Given the description of an element on the screen output the (x, y) to click on. 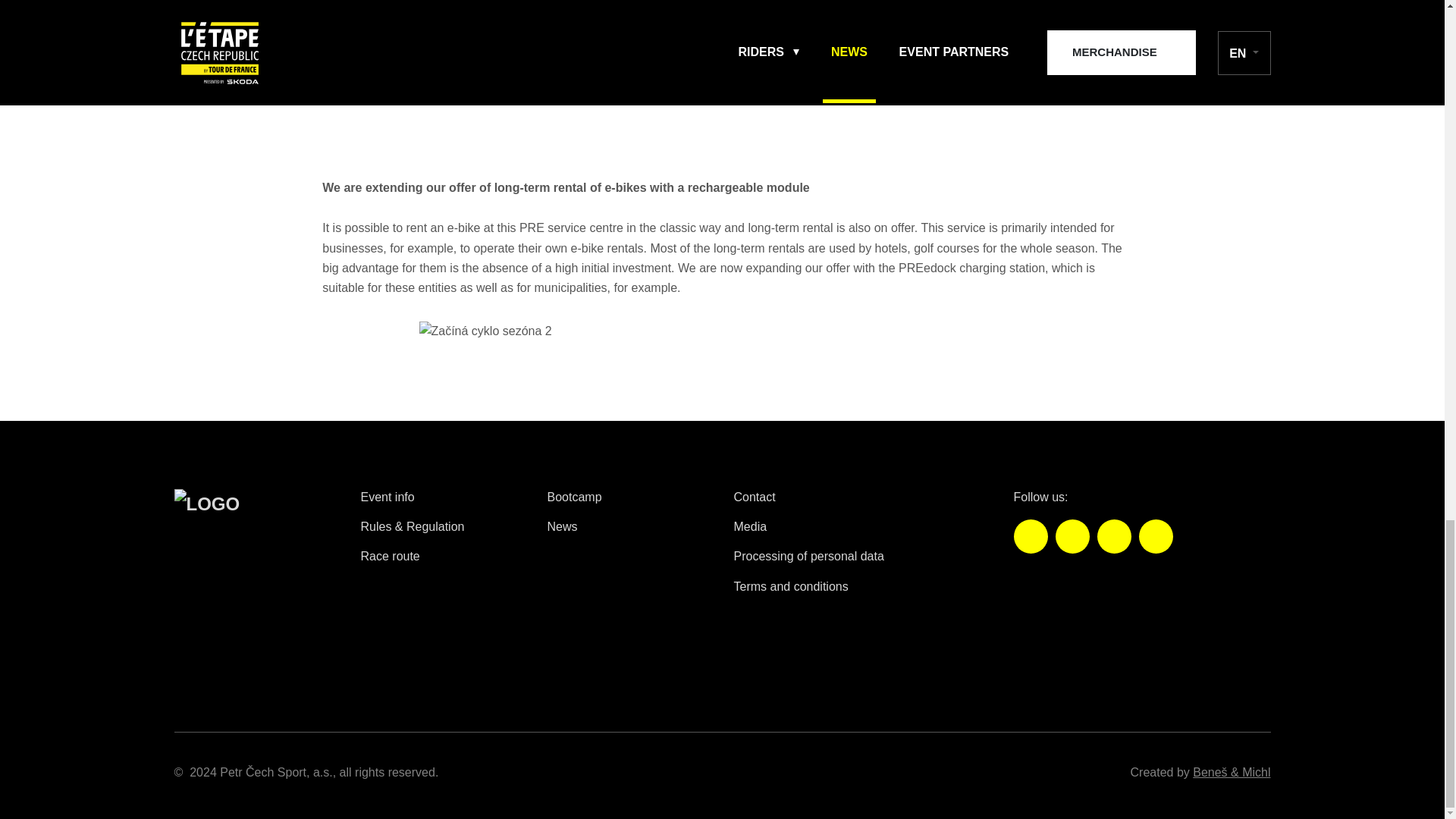
Contact (754, 496)
Processing of personal data (808, 555)
News (562, 526)
Bootcamp (574, 496)
Media (750, 526)
Race route (390, 555)
Terms and conditions (790, 585)
Event info (387, 496)
